Given the description of an element on the screen output the (x, y) to click on. 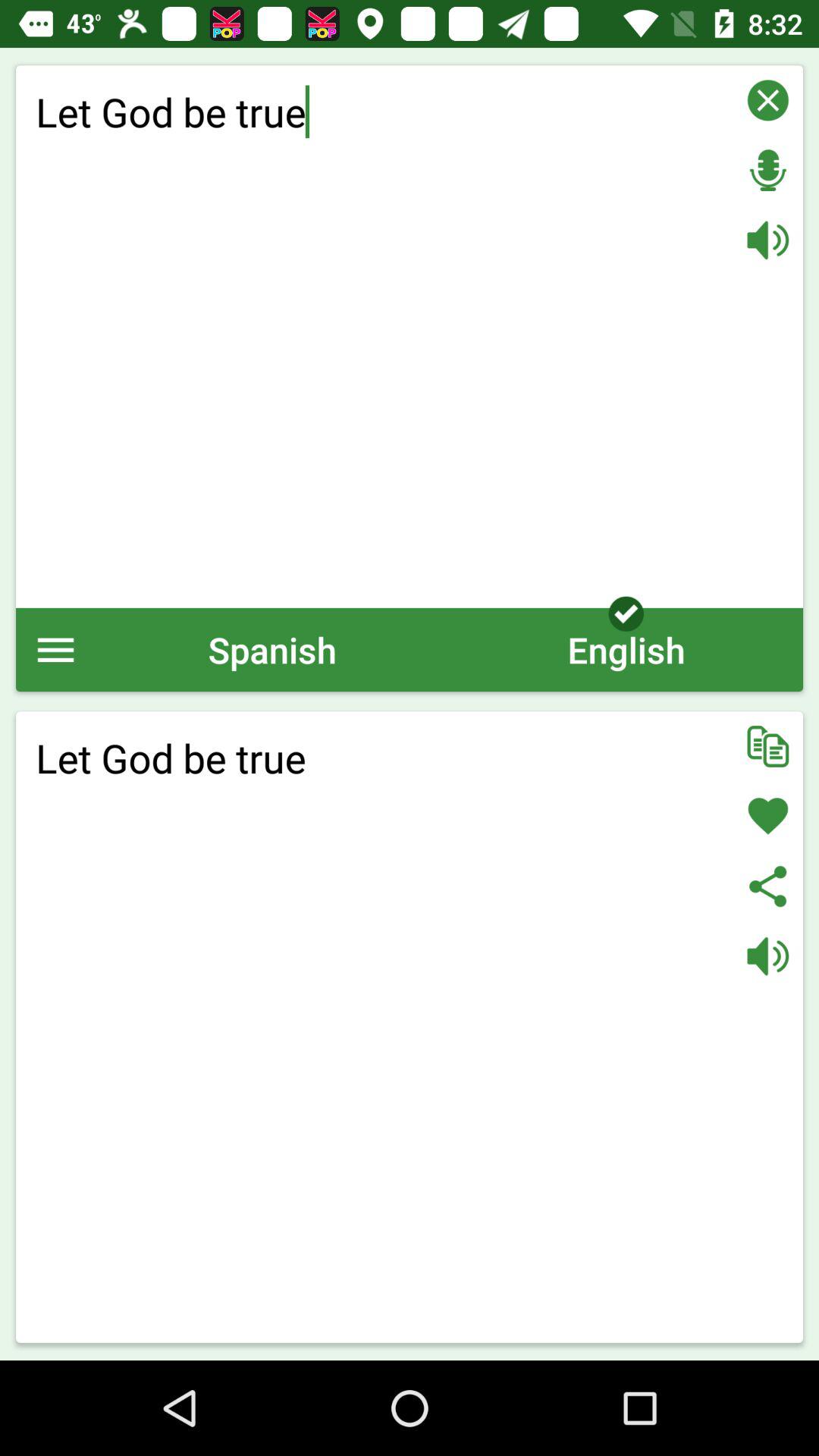
turn on item below the english (768, 746)
